Given the description of an element on the screen output the (x, y) to click on. 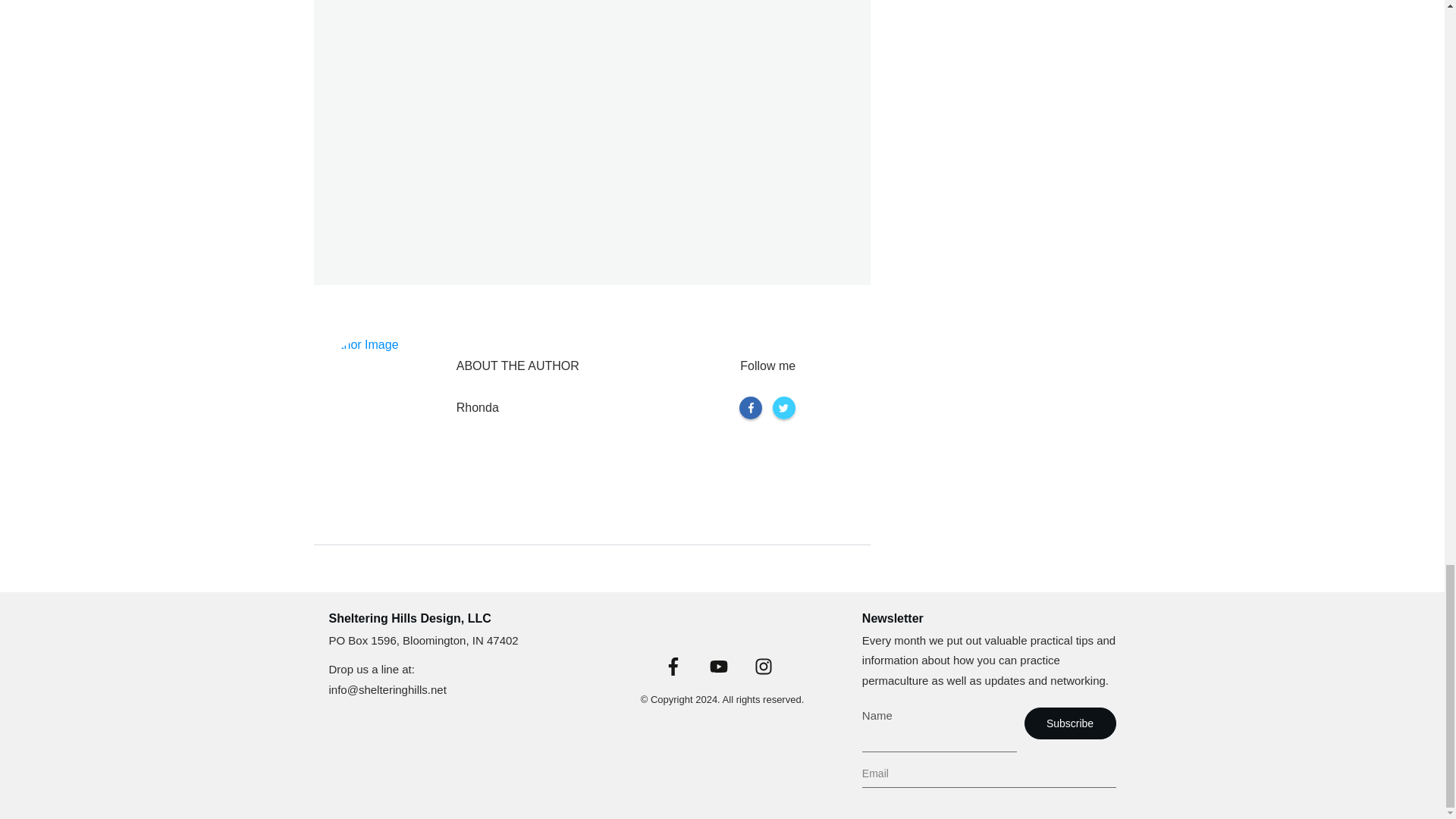
undefined (379, 400)
Rhonda (478, 407)
